Given the description of an element on the screen output the (x, y) to click on. 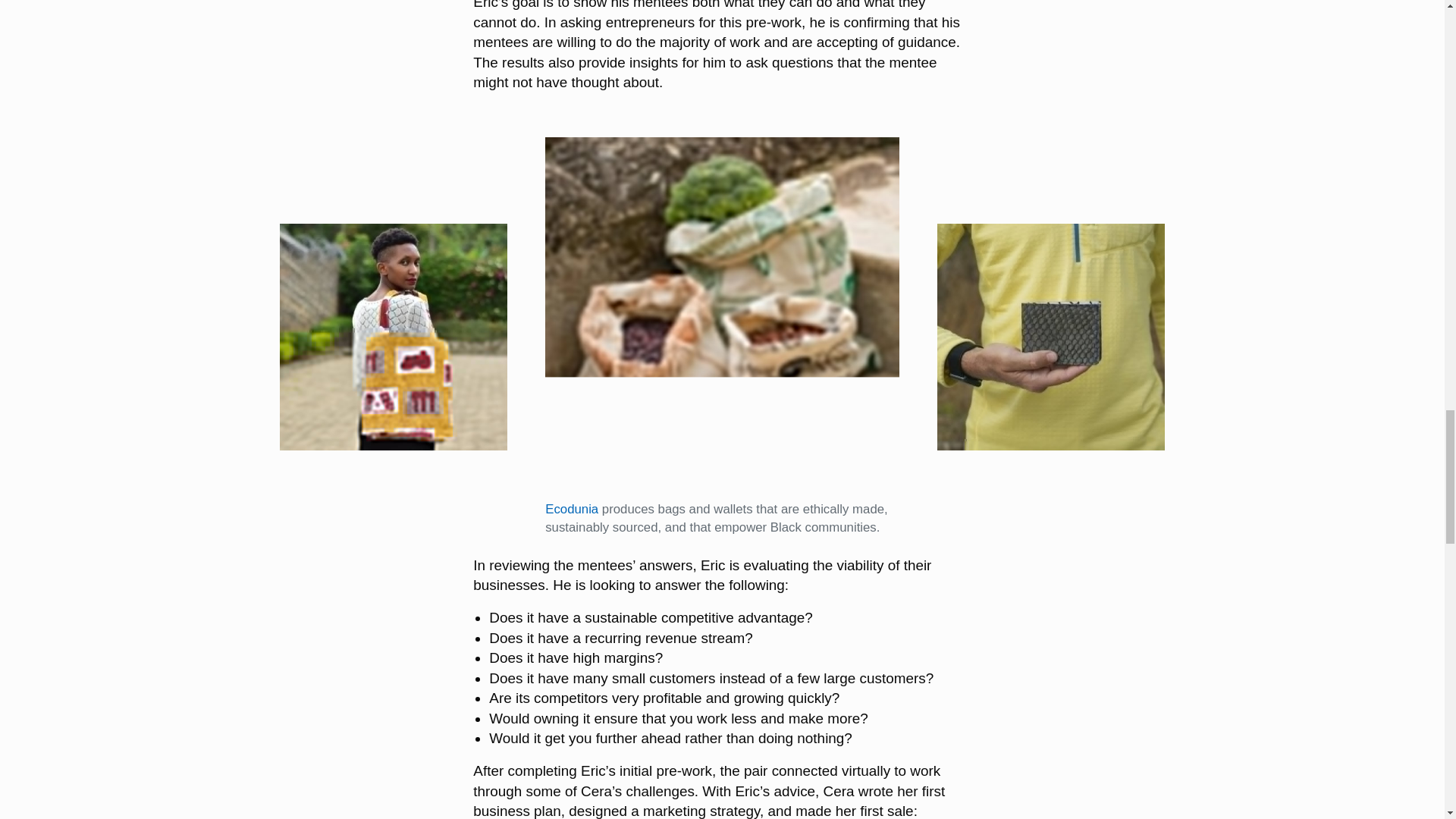
Ecodunia (571, 509)
